Given the description of an element on the screen output the (x, y) to click on. 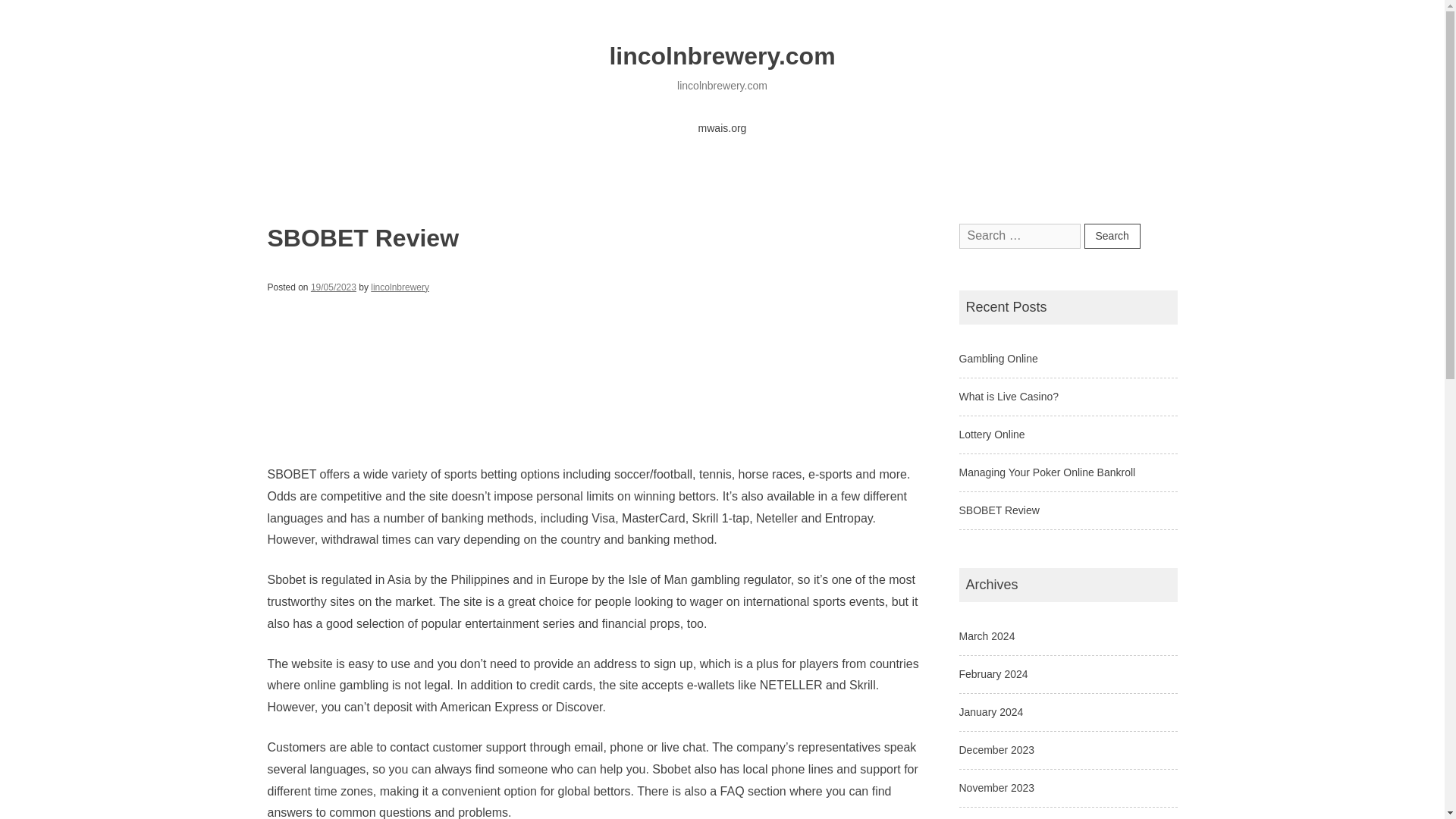
mwais.org (722, 128)
Managing Your Poker Online Bankroll (1046, 472)
Lottery Online (991, 434)
January 2024 (990, 711)
lincolnbrewery (400, 286)
Search (1112, 235)
Search (1112, 235)
March 2024 (986, 635)
February 2024 (992, 674)
SBOBET Review (998, 510)
Search (1112, 235)
November 2023 (995, 787)
December 2023 (995, 749)
Gambling Online (997, 358)
lincolnbrewery.com (721, 55)
